Given the description of an element on the screen output the (x, y) to click on. 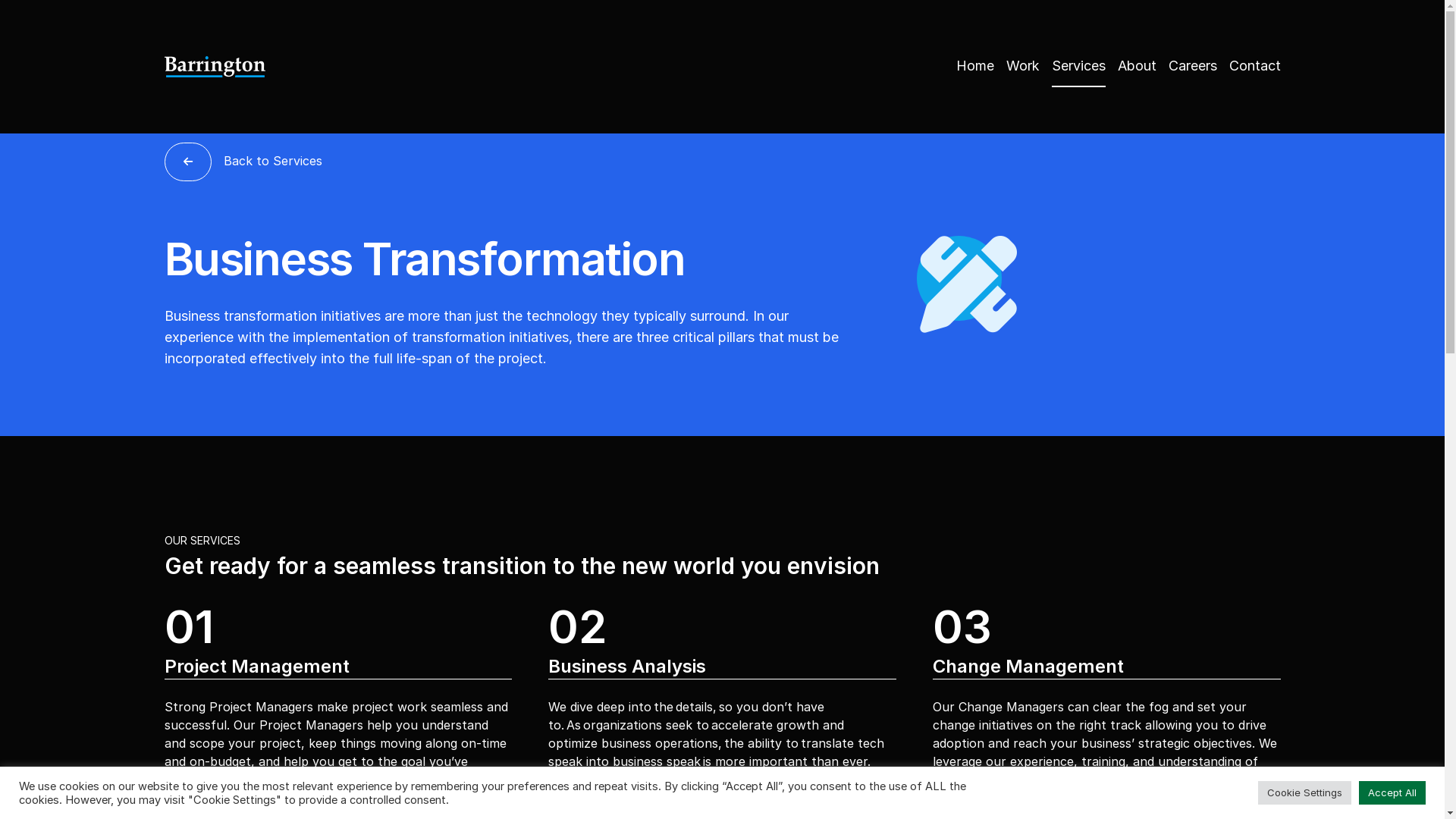
Home Element type: text (974, 65)
Careers Element type: text (1191, 65)
Accept All Element type: text (1391, 792)
Work Element type: text (1021, 65)
Cookie Settings Element type: text (1304, 792)
Back to Services Element type: text (242, 161)
Services Element type: text (1077, 66)
Contact Element type: text (1254, 65)
About Element type: text (1136, 65)
